Given the description of an element on the screen output the (x, y) to click on. 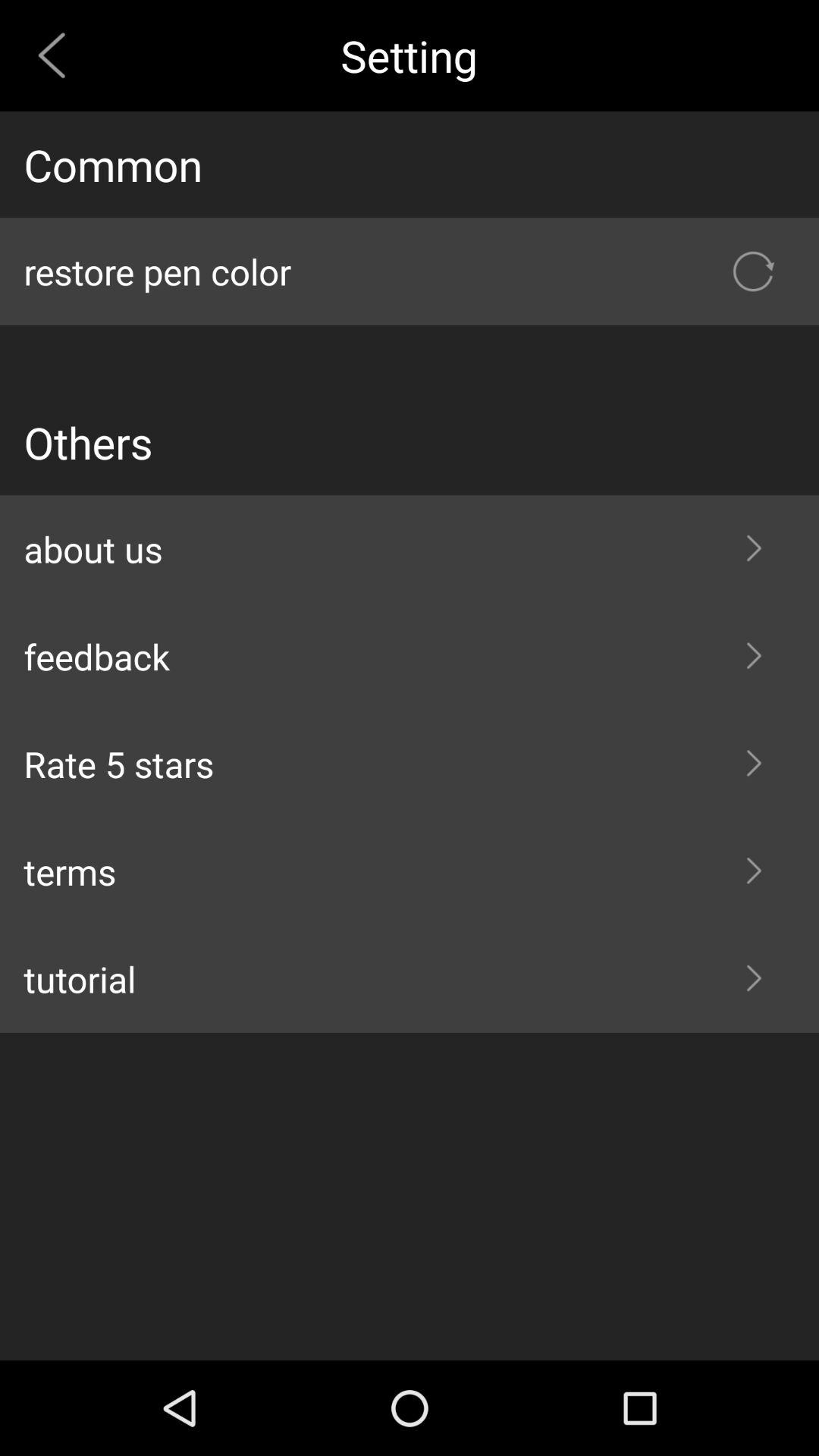
jump to the restore pen color item (409, 271)
